Given the description of an element on the screen output the (x, y) to click on. 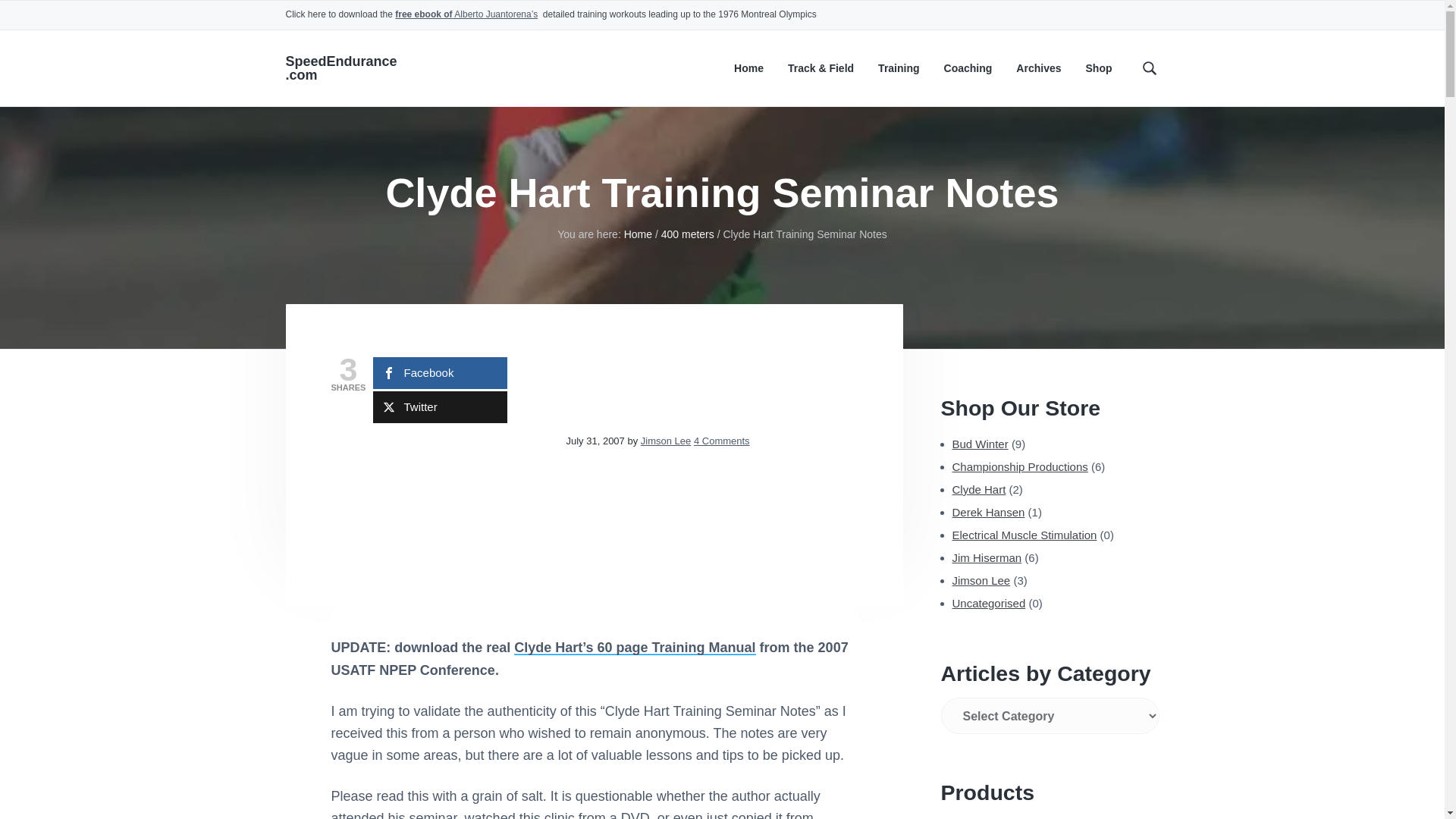
Advertisement (443, 534)
Home (747, 67)
Home (638, 234)
Archives (1038, 67)
Coaching (967, 67)
400 meters (687, 234)
SpeedEndurance.com (340, 68)
Training (897, 67)
Search (60, 18)
Shop (1099, 67)
